Given the description of an element on the screen output the (x, y) to click on. 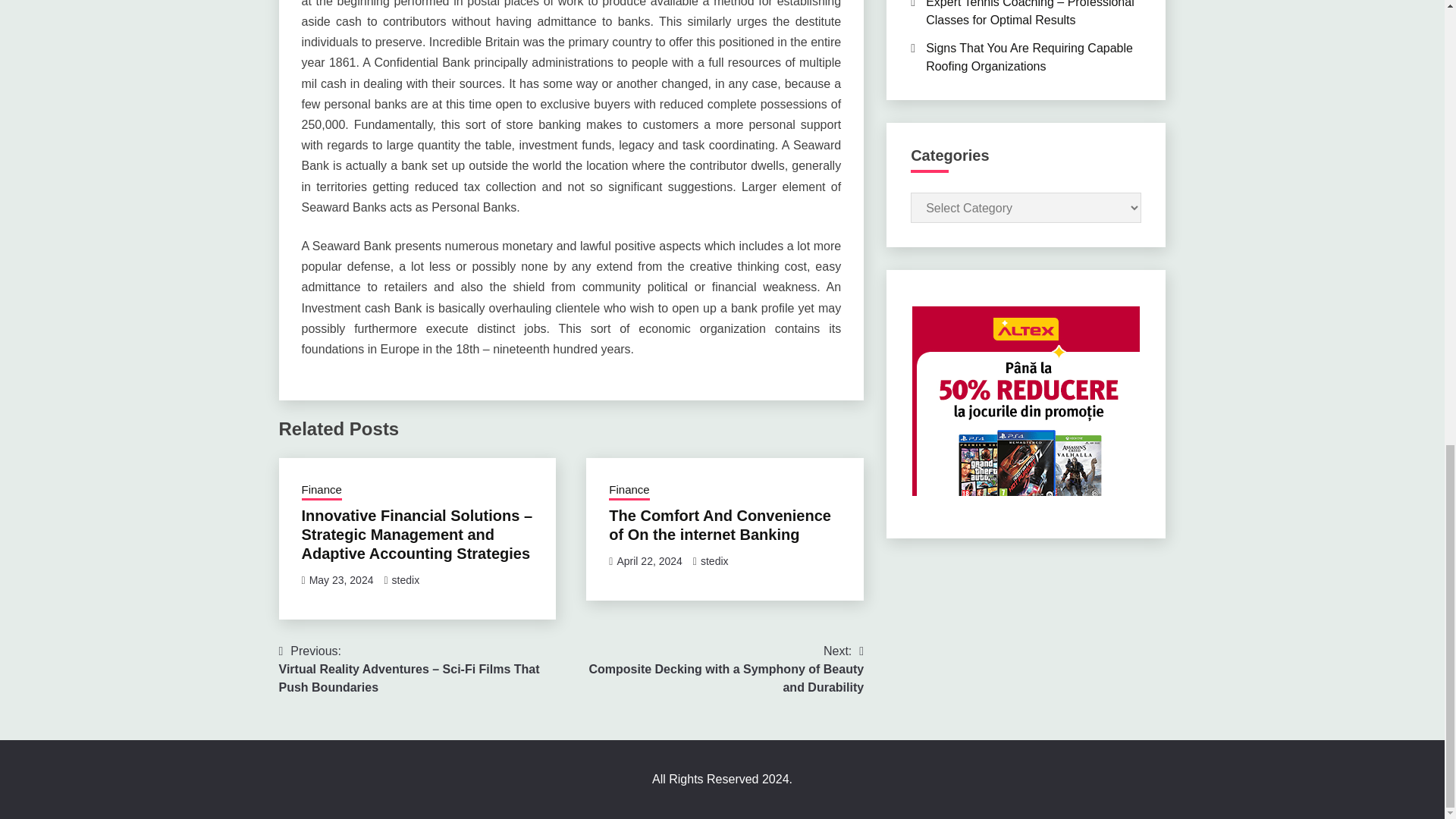
The Comfort And Convenience of On the internet Banking (719, 524)
stedix (405, 580)
Finance (628, 491)
stedix (714, 561)
April 22, 2024 (648, 561)
Finance (321, 491)
May 23, 2024 (341, 580)
